Given the description of an element on the screen output the (x, y) to click on. 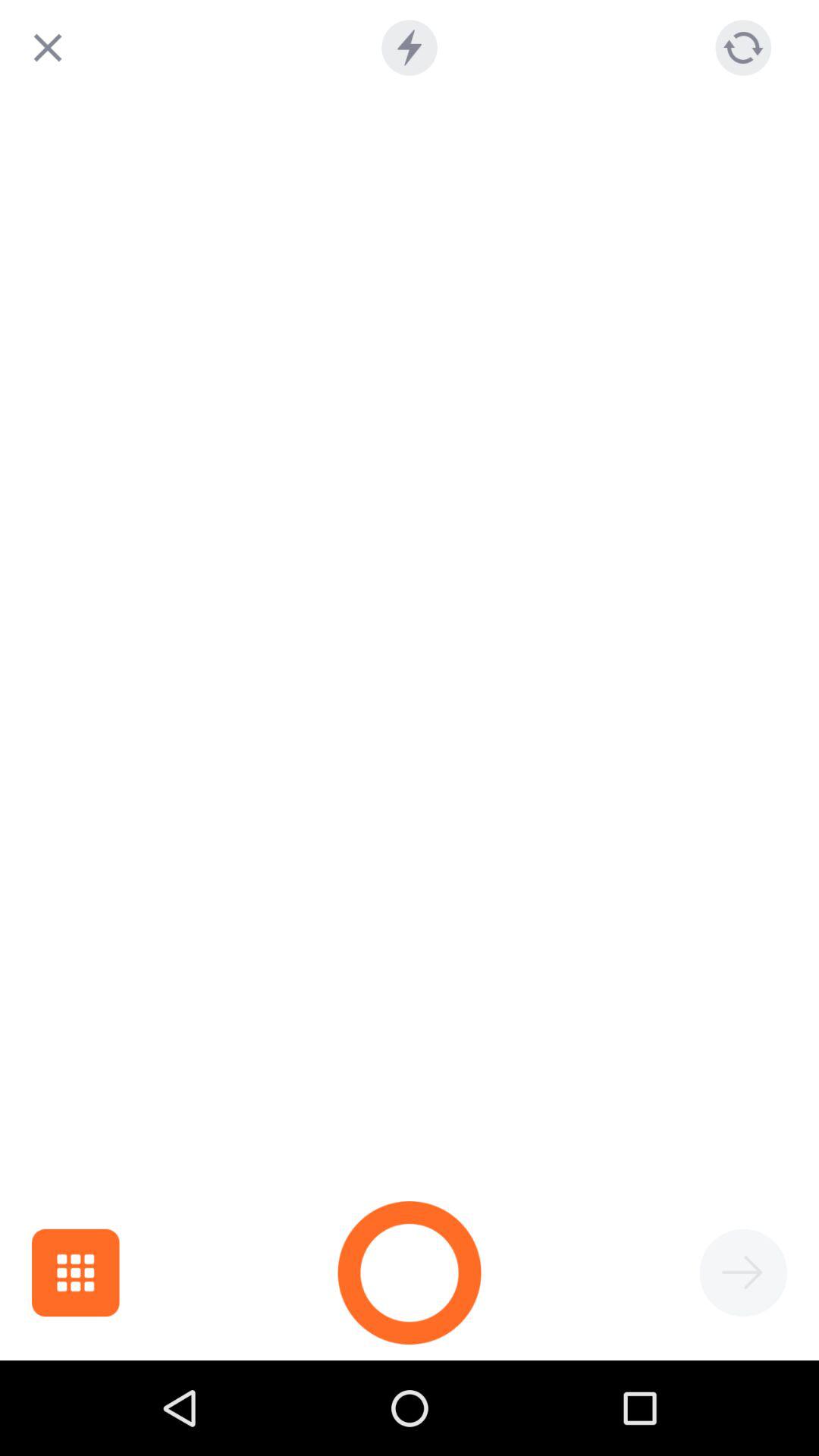
press icon at the bottom right corner (743, 1272)
